Given the description of an element on the screen output the (x, y) to click on. 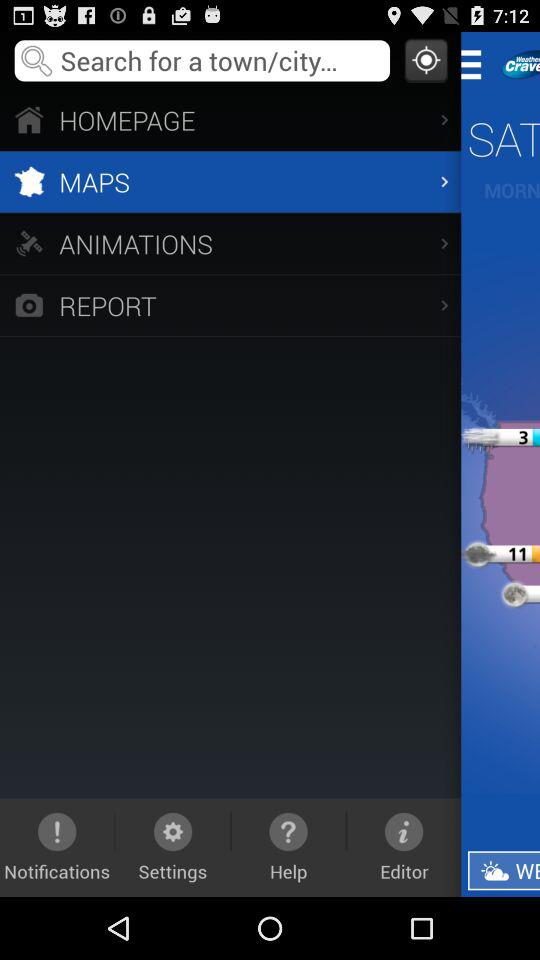
turn off the icon below animations app (230, 304)
